Given the description of an element on the screen output the (x, y) to click on. 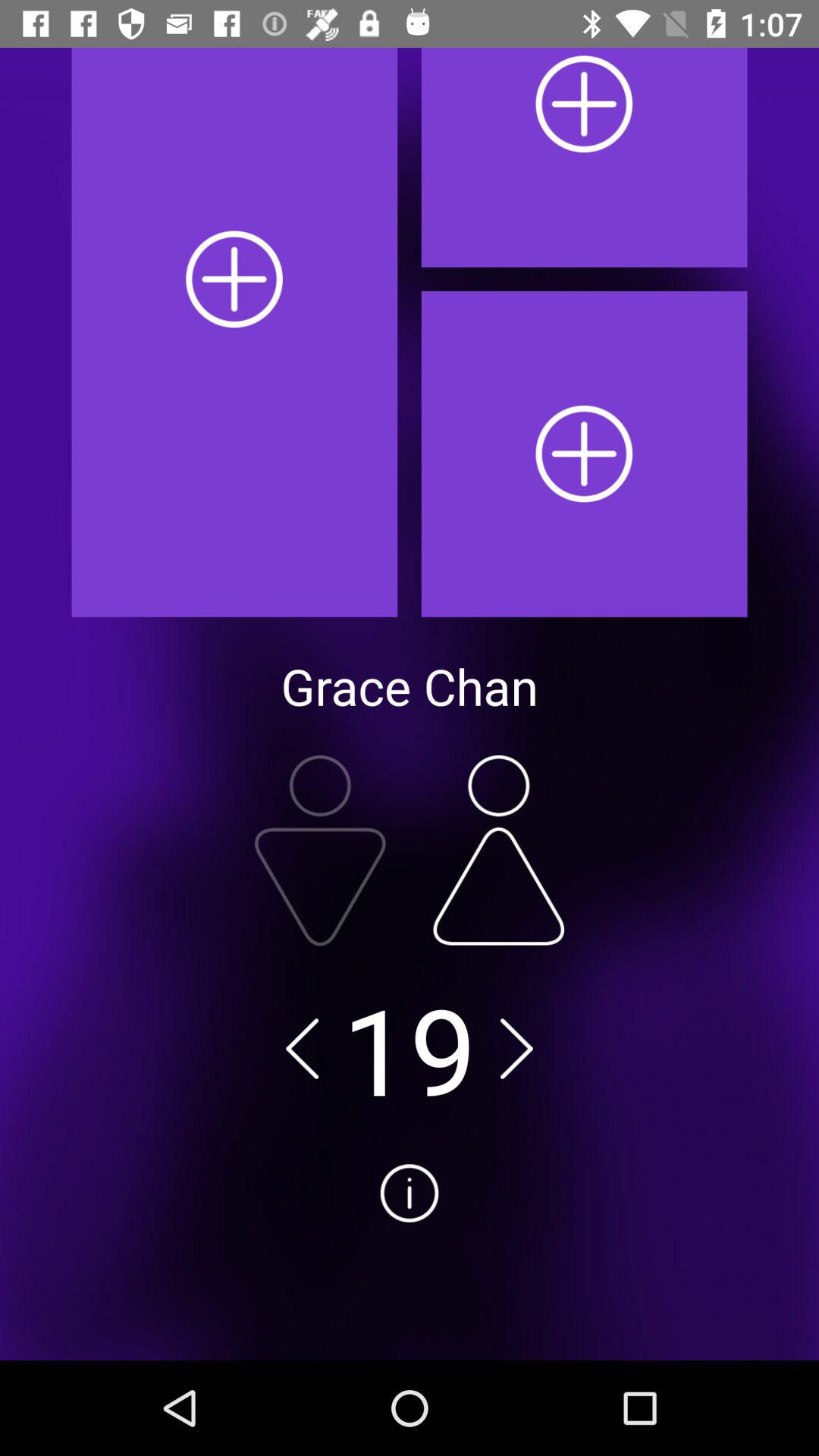
icon (409, 1250)
